Given the description of an element on the screen output the (x, y) to click on. 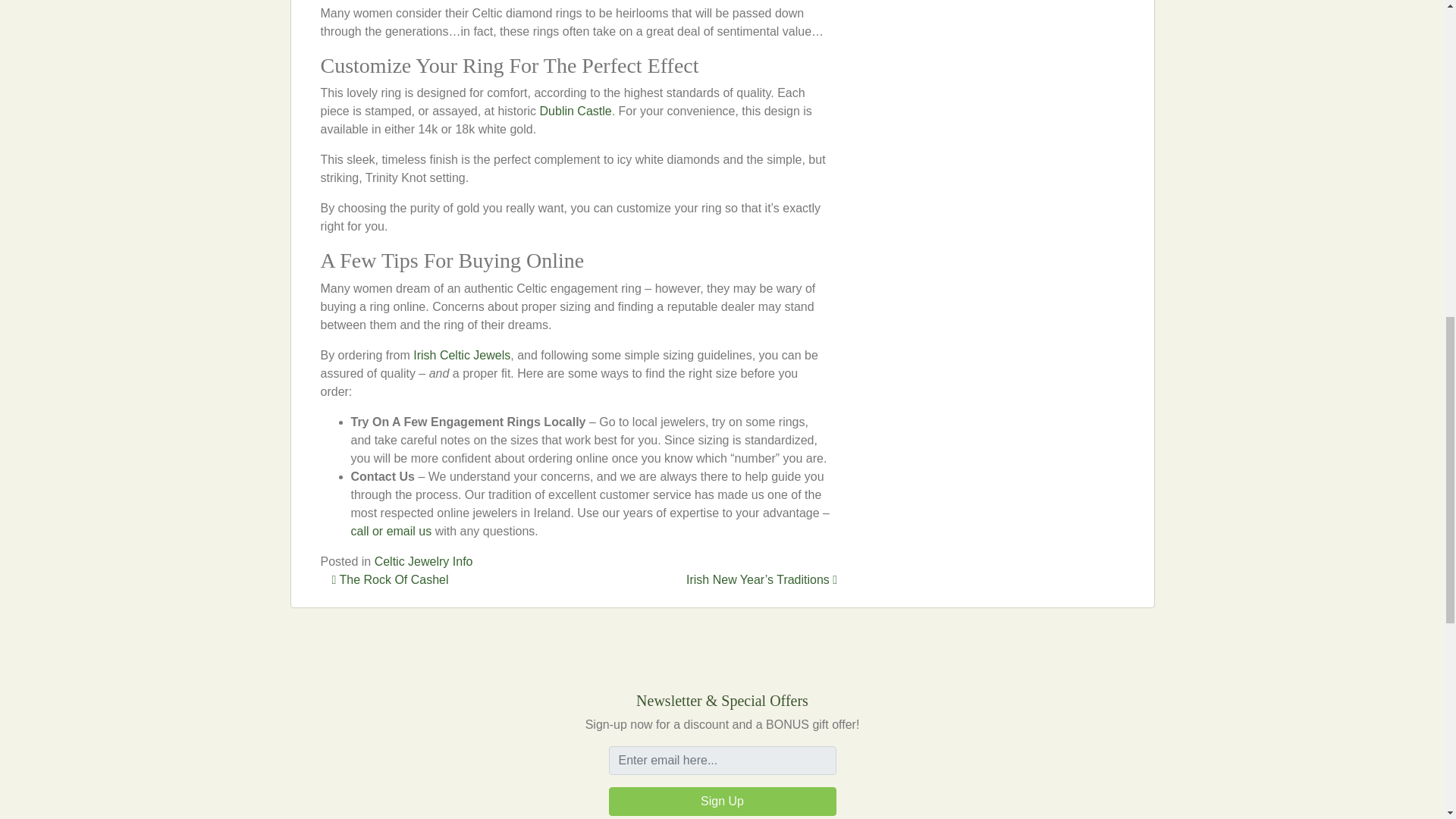
Irish Celtic Jewels (462, 354)
call or email us (390, 530)
Dublin Castle (575, 110)
